Given the description of an element on the screen output the (x, y) to click on. 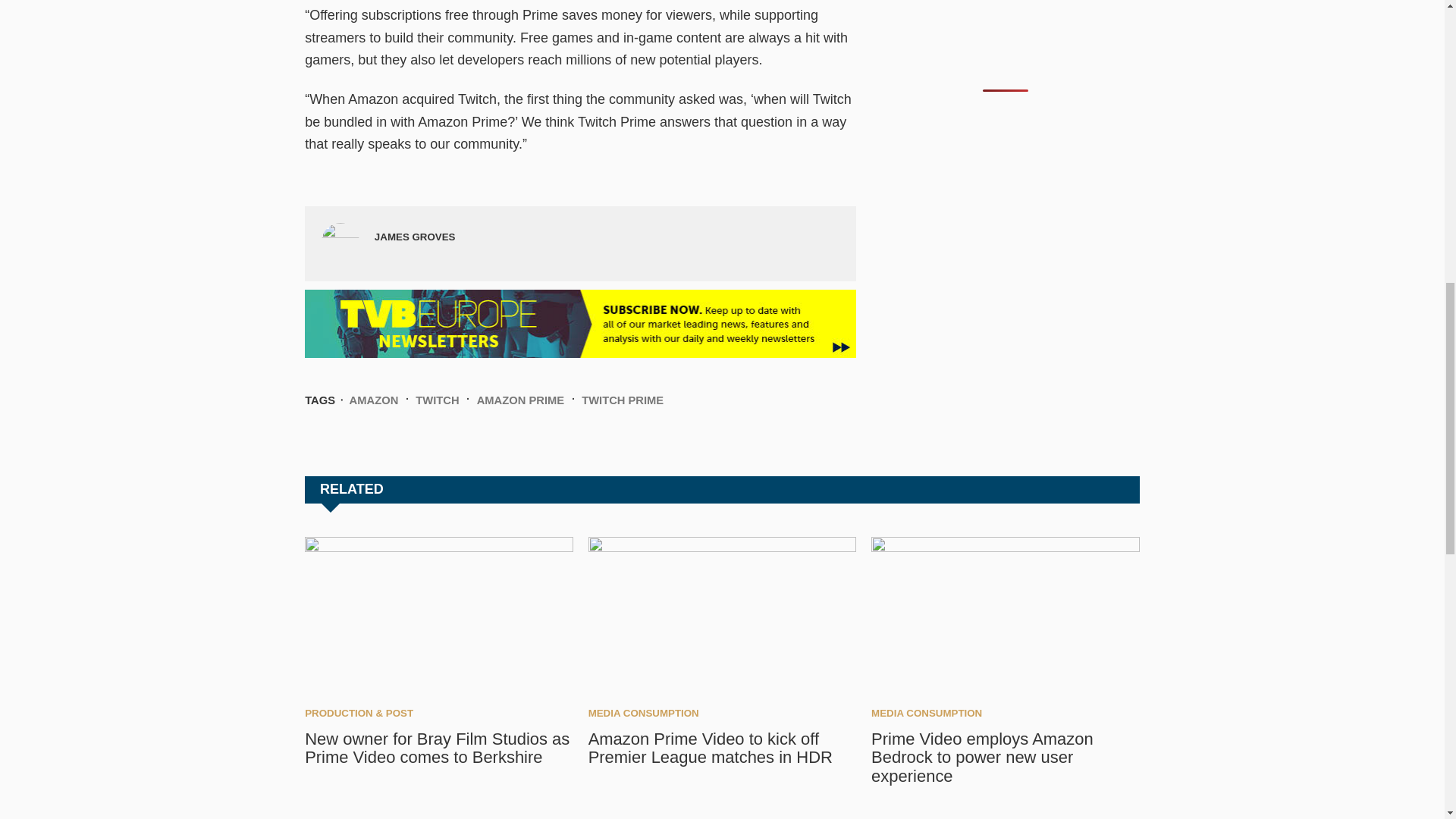
James Groves's Author Profile (414, 236)
